Given the description of an element on the screen output the (x, y) to click on. 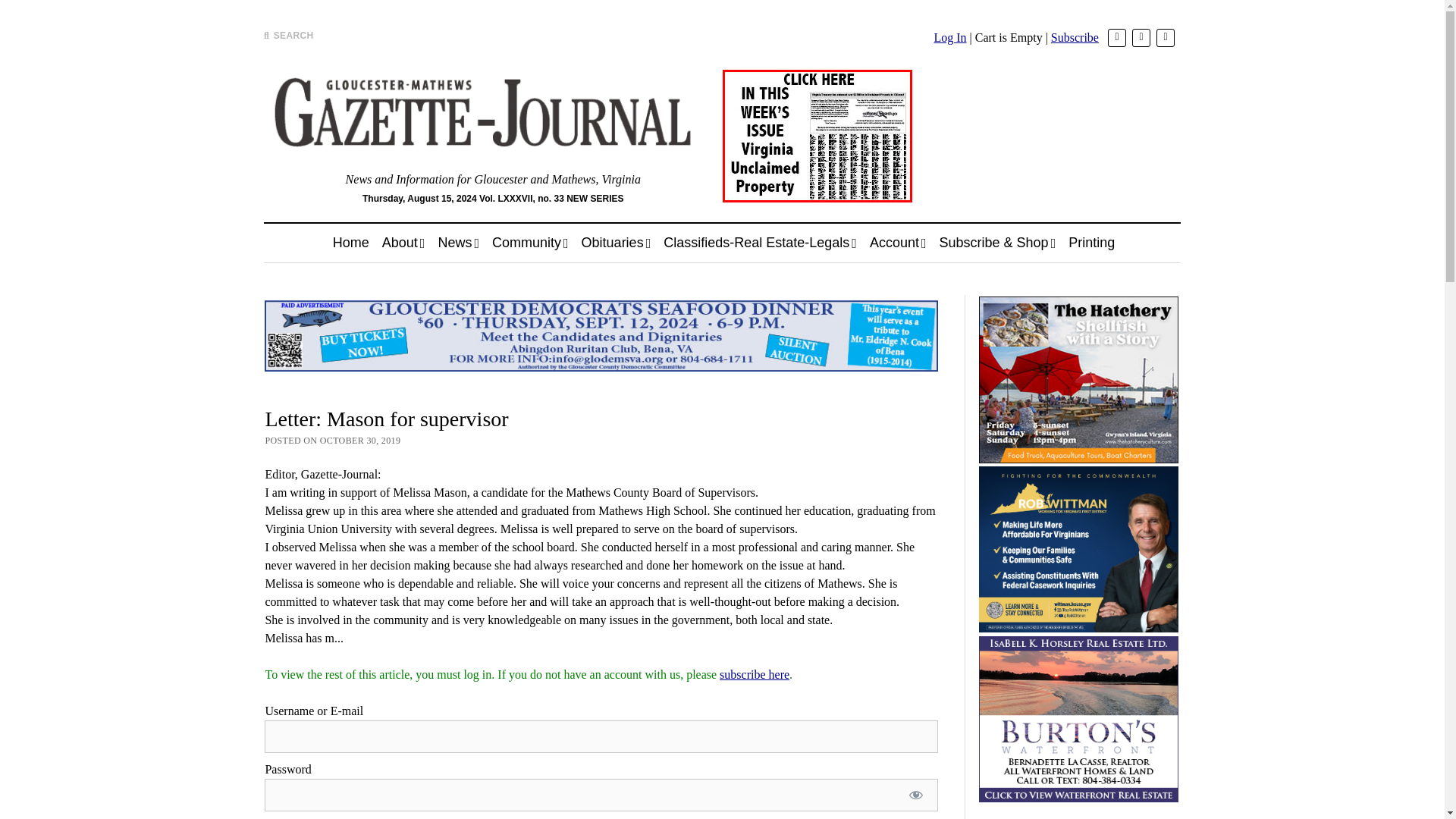
twitter (1116, 37)
About (402, 242)
Home (350, 242)
Log In (949, 37)
SEARCH (288, 35)
Search (945, 129)
Community (530, 242)
facebook (1141, 37)
instagram (1165, 37)
News (457, 242)
